Given the description of an element on the screen output the (x, y) to click on. 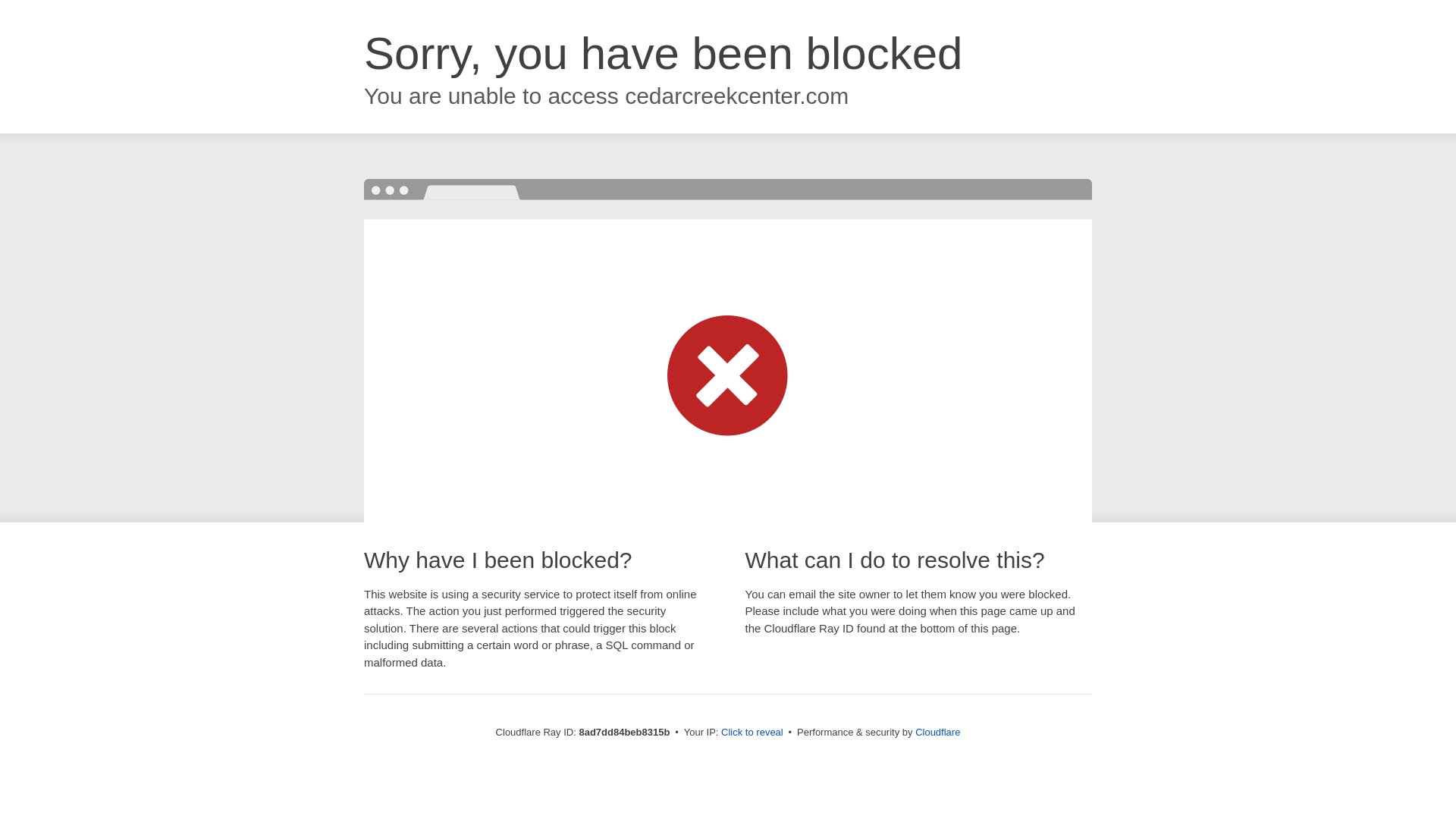
Cloudflare (937, 731)
Click to reveal (751, 732)
